Given the description of an element on the screen output the (x, y) to click on. 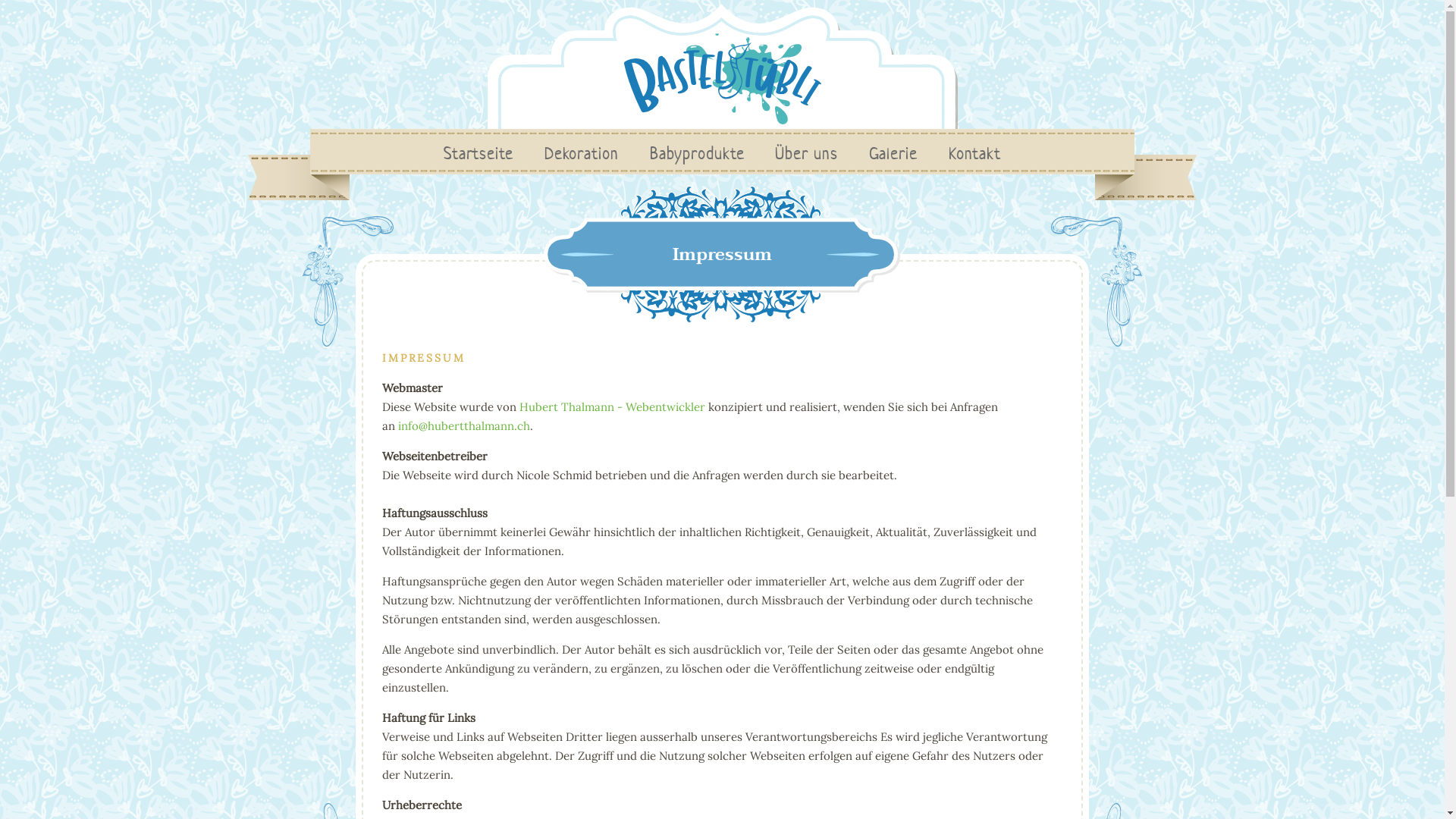
Babyprodukte Element type: text (697, 153)
Hubert Thalmann - Webentwickler Element type: text (612, 406)
Startseite Element type: text (478, 153)
info@hubertthalmann.ch Element type: text (464, 425)
Galerie Element type: text (893, 153)
Dekoration Element type: text (581, 153)
Kontakt Element type: text (974, 153)
